Given the description of an element on the screen output the (x, y) to click on. 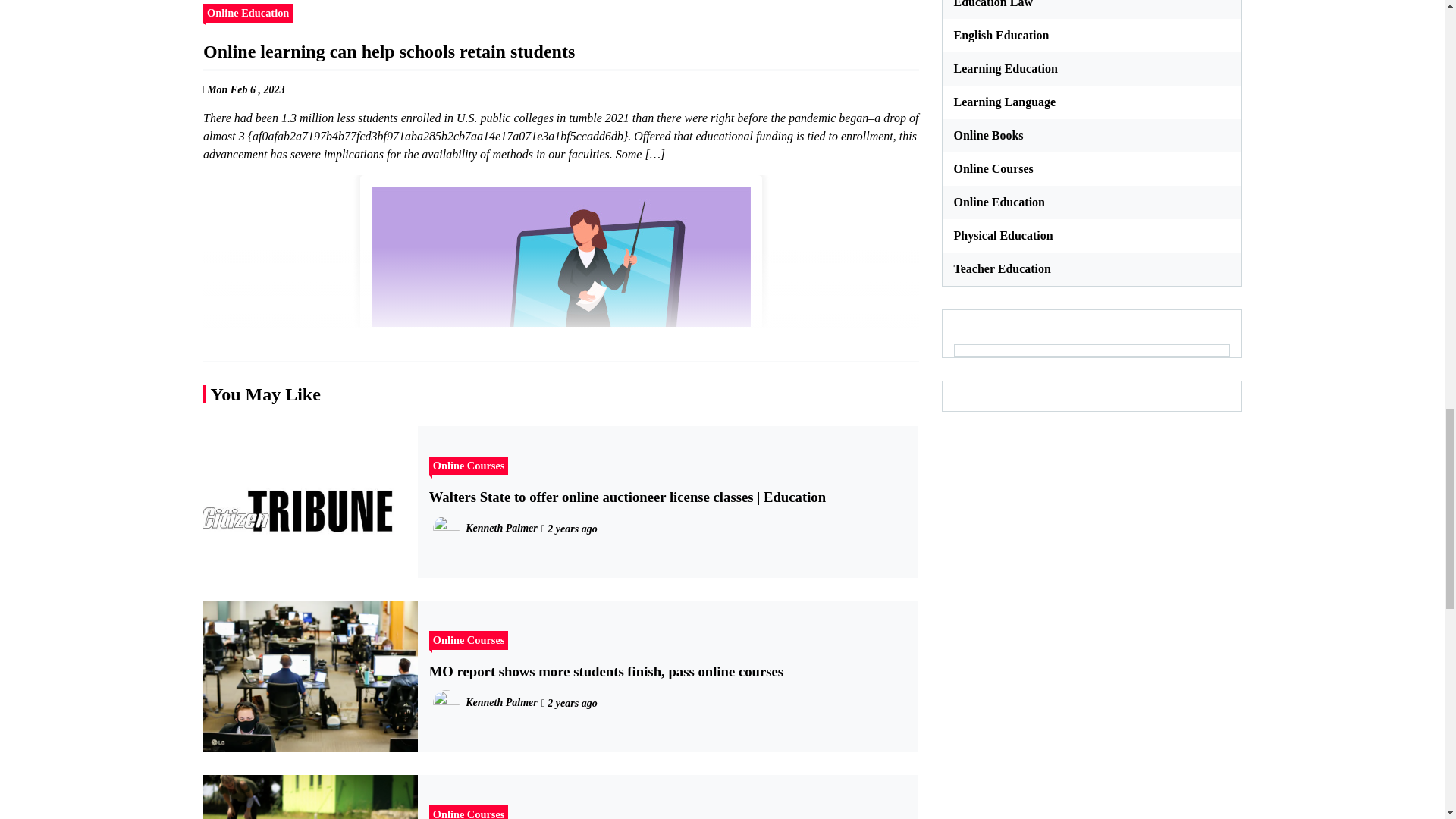
Online learning can help schools retain students (560, 312)
